Given the description of an element on the screen output the (x, y) to click on. 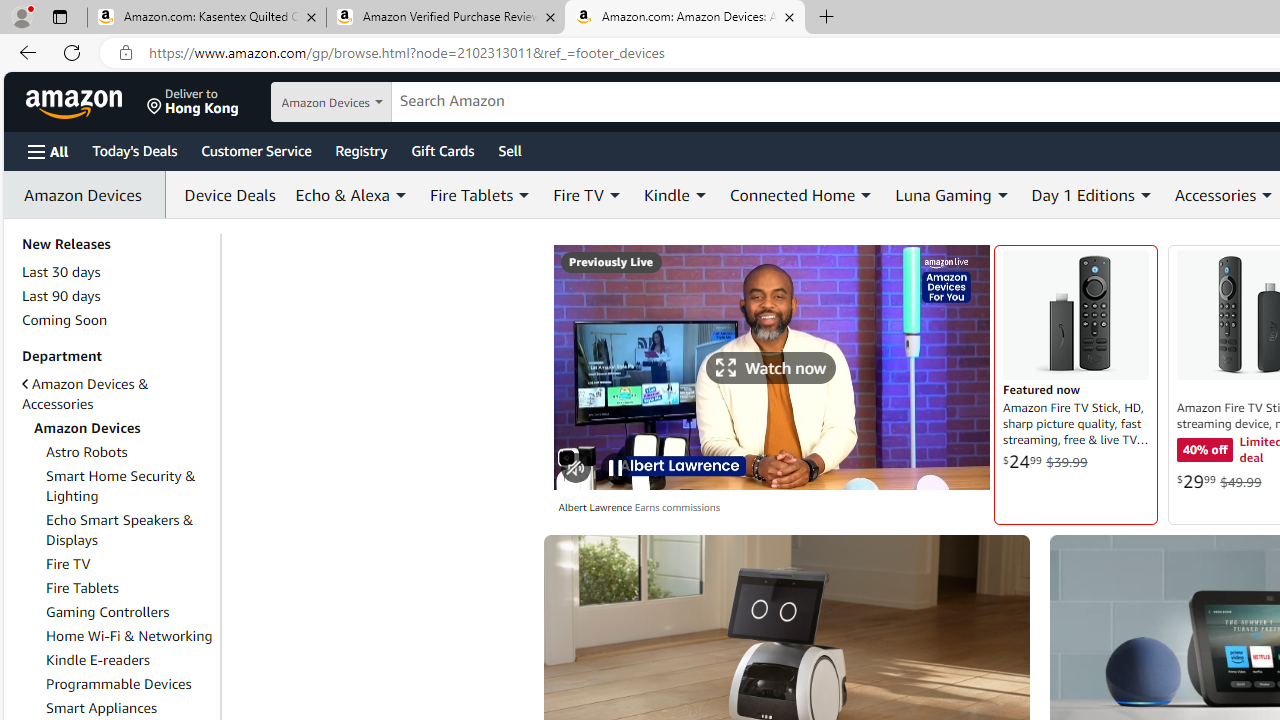
Device Deals (224, 194)
Skip to main content (86, 100)
Echo Smart Speakers & Displays (129, 529)
Unmute (575, 467)
Gaming Controllers (108, 611)
Amazon Devices & Accessories (84, 394)
Accessories (1214, 194)
Programmable Devices (129, 683)
Open Menu (48, 151)
Luna Gaming (952, 194)
Connected Home (792, 194)
Deliver to Hong Kong (193, 101)
